Given the description of an element on the screen output the (x, y) to click on. 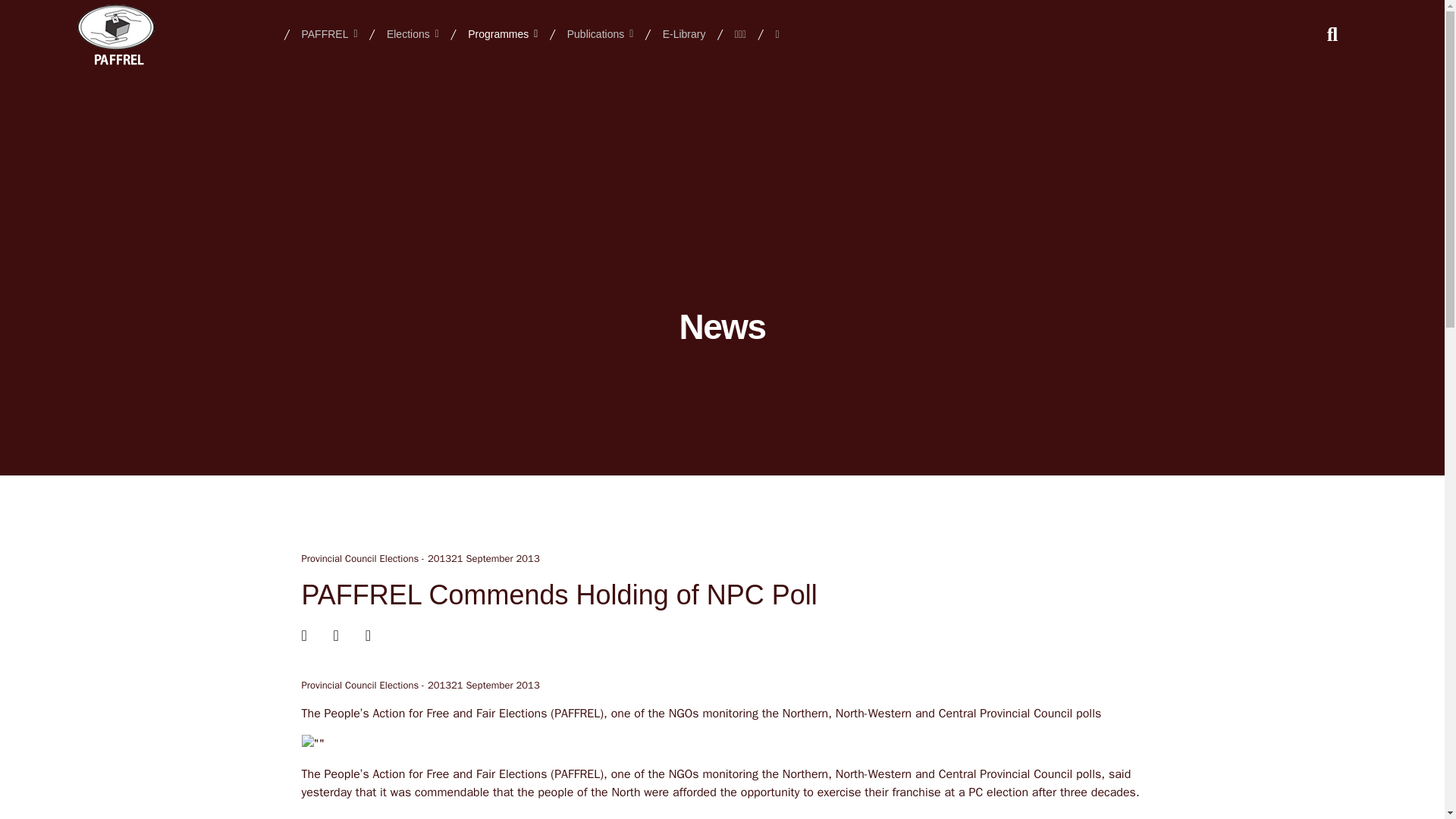
Category: Provincial Council Elections - 2013 (376, 558)
Publications (600, 33)
Published: 21 September 2013 (495, 685)
Category: Provincial Council Elections - 2013 (376, 685)
PAFFREL (328, 33)
Published: 21 September 2013 (495, 558)
Elections (412, 33)
Programmes (502, 33)
